Given the description of an element on the screen output the (x, y) to click on. 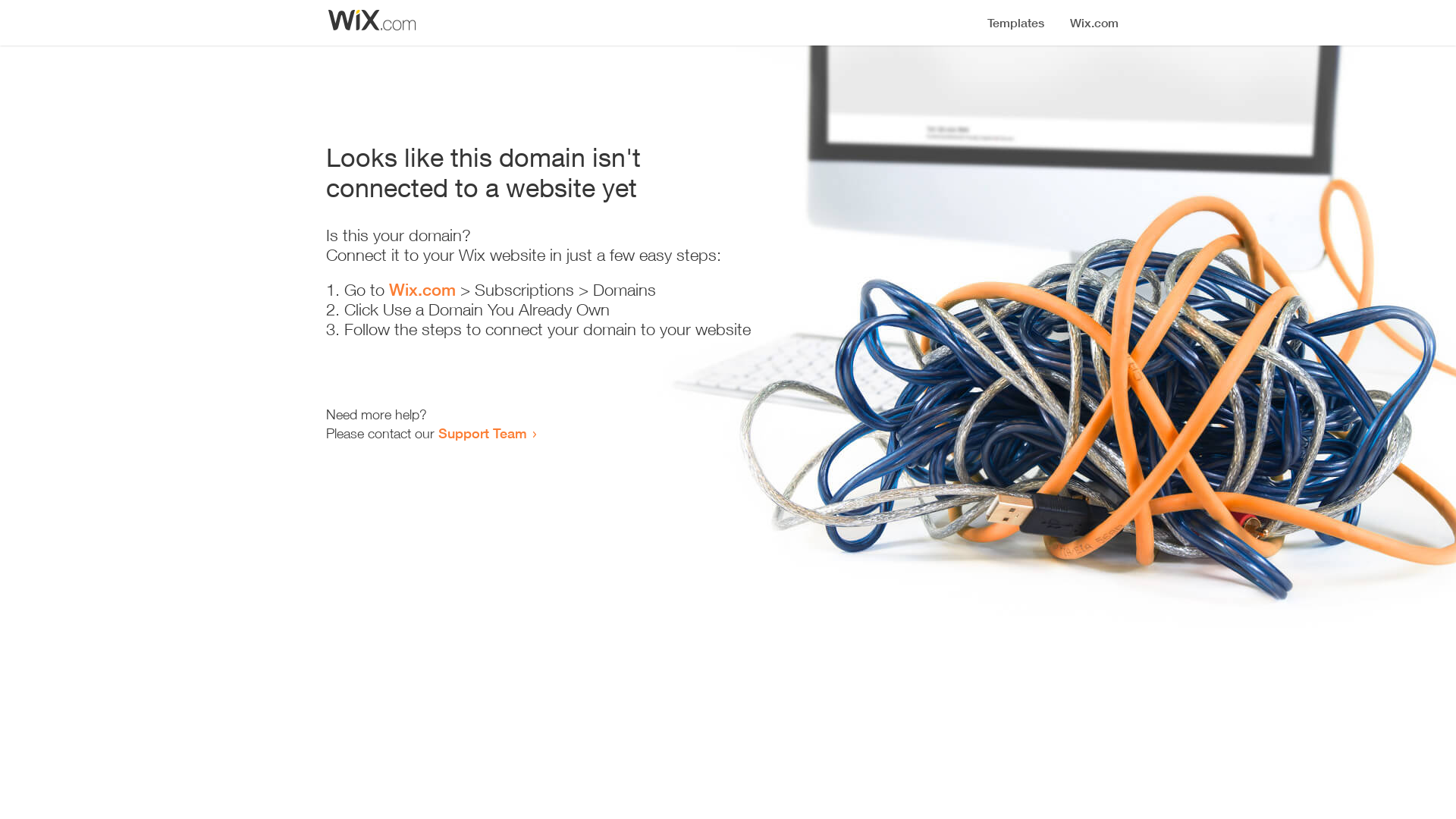
Support Team Element type: text (482, 432)
Wix.com Element type: text (422, 289)
